Given the description of an element on the screen output the (x, y) to click on. 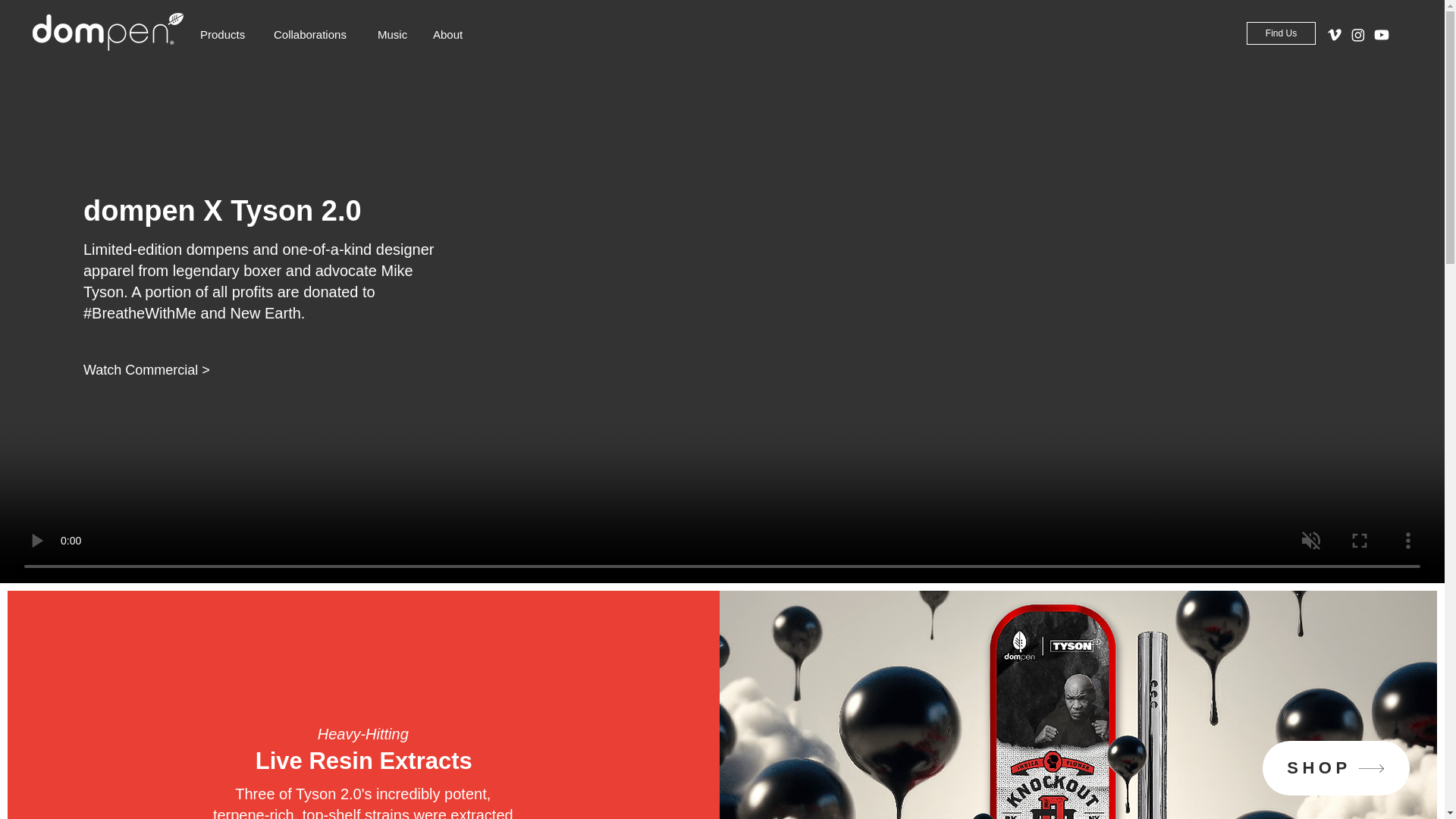
SHOP (1335, 768)
Find Us (1281, 33)
